Given the description of an element on the screen output the (x, y) to click on. 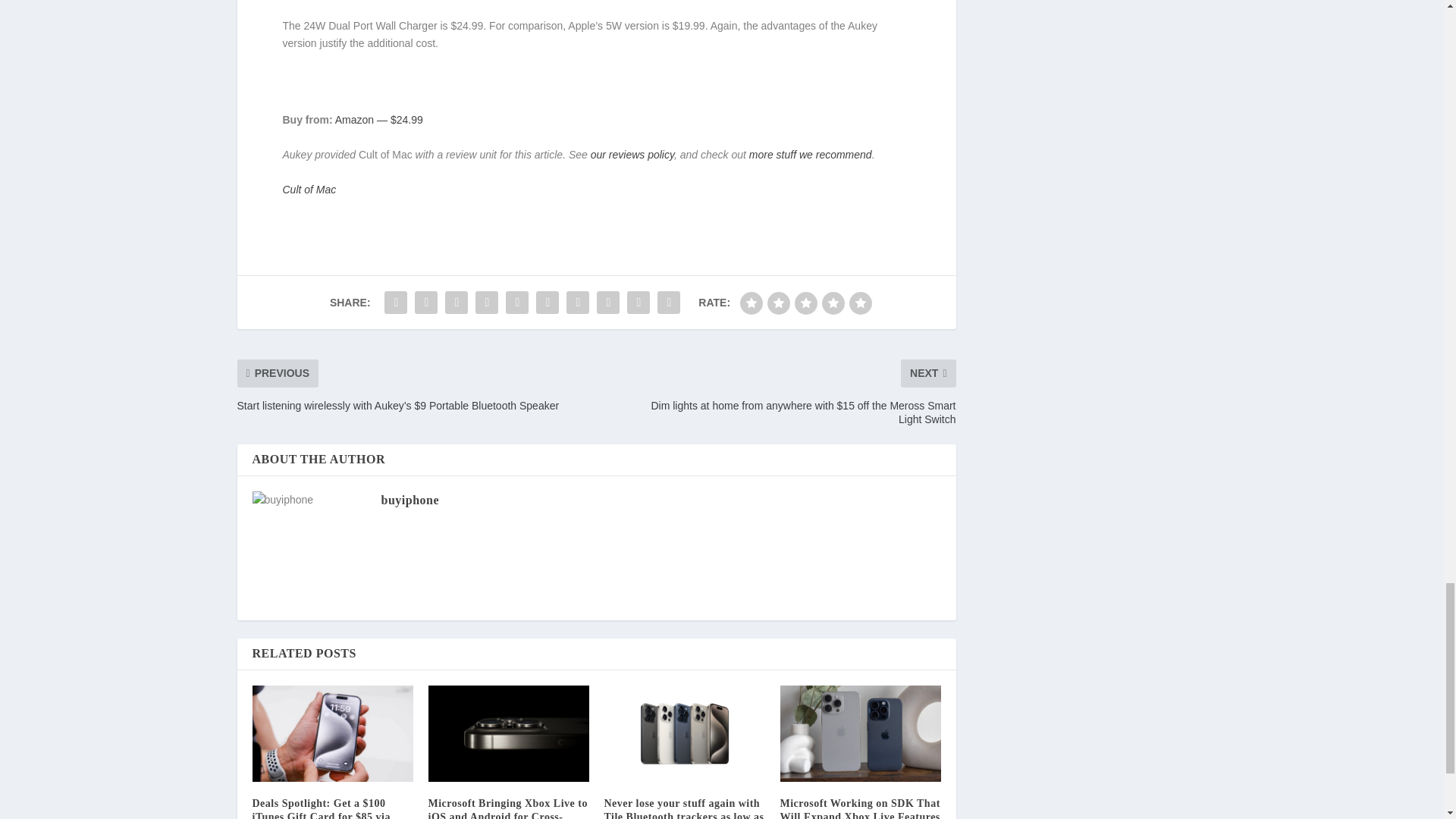
our reviews policy (632, 154)
more stuff we recommend (810, 154)
Cult of Mac (309, 189)
buyiphone (409, 499)
